Given the description of an element on the screen output the (x, y) to click on. 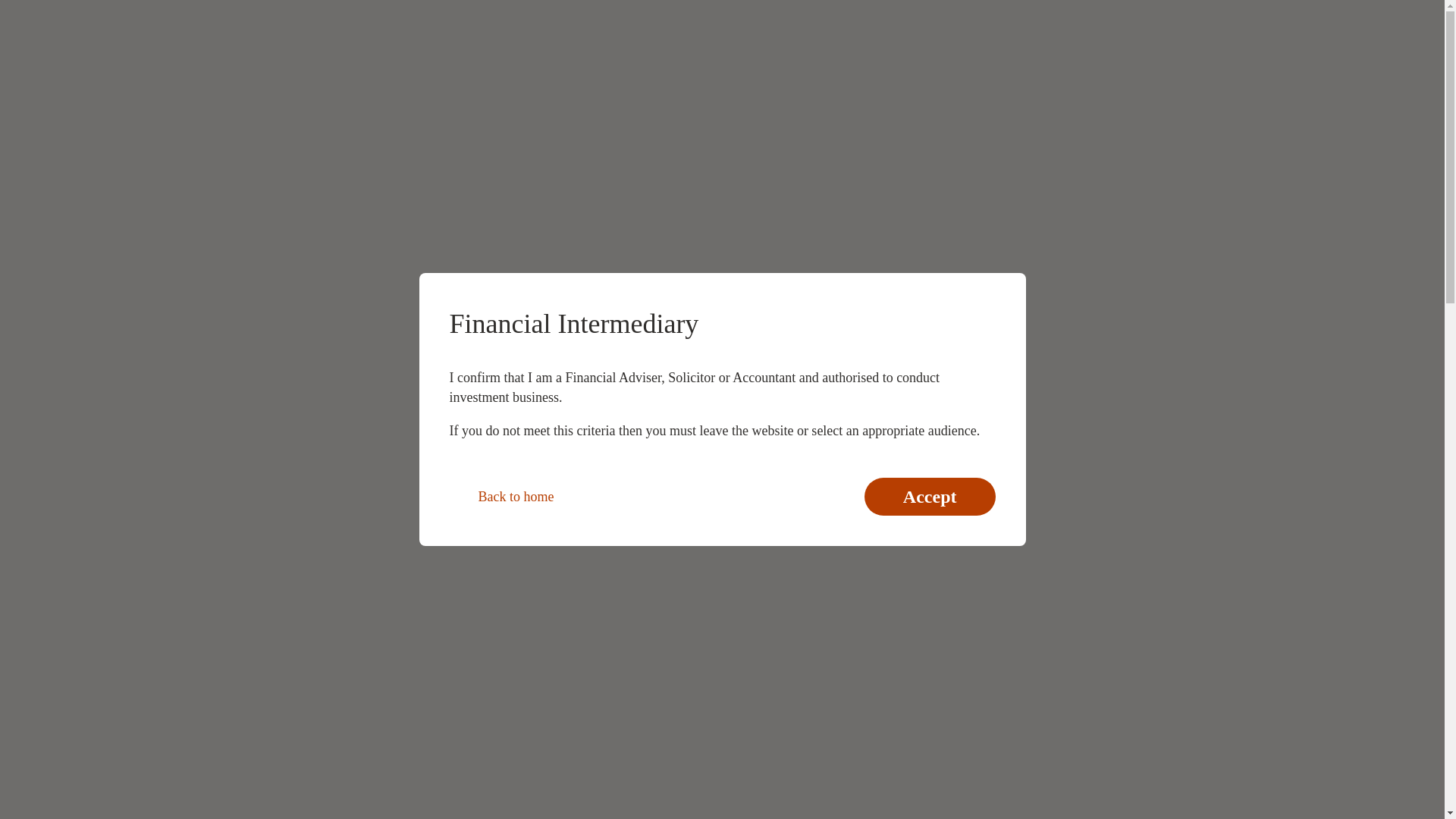
Contact us (1253, 15)
Platform help centre (363, 108)
Downloading client tax packs (271, 279)
Private clients (429, 16)
Creating an investment report (271, 299)
Financial advisers (210, 16)
Client Platform User Guide (370, 511)
7IMagine app (197, 438)
7IM Platform (277, 108)
Client portal (329, 259)
